Given the description of an element on the screen output the (x, y) to click on. 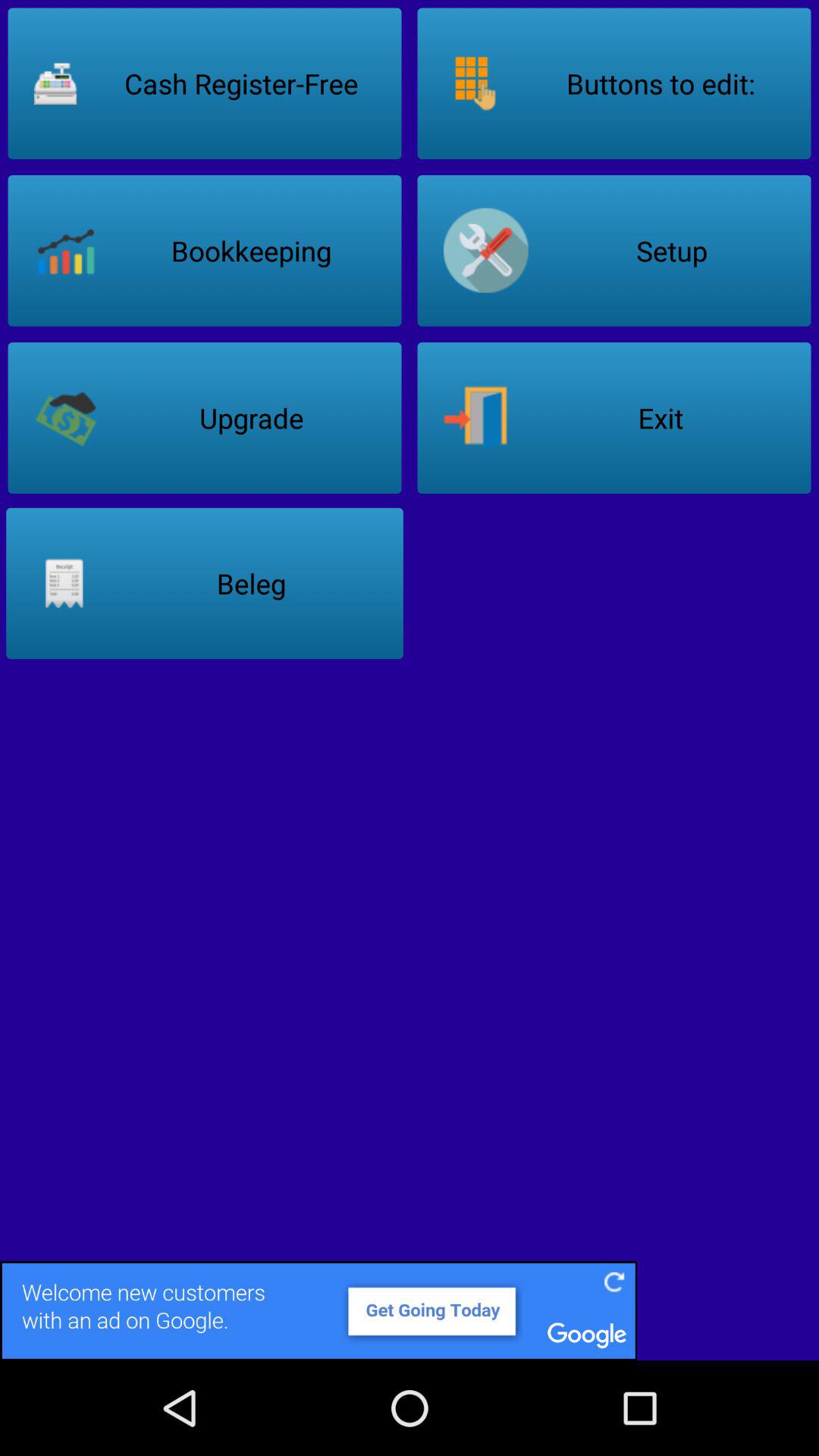
its an advertisement (409, 1310)
